Given the description of an element on the screen output the (x, y) to click on. 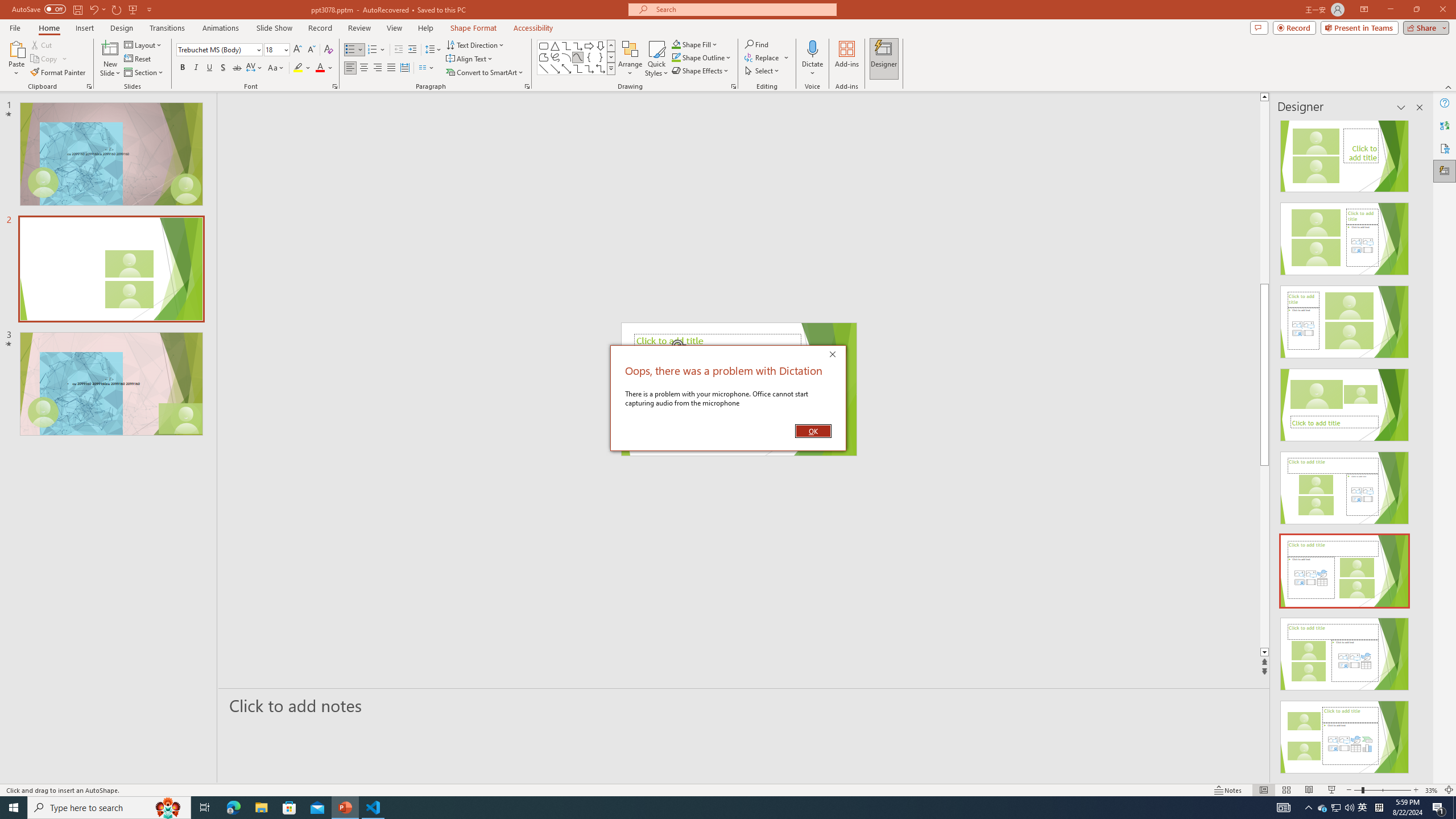
Shape Outline Green, Accent 1 (675, 56)
Line Arrow: Double (566, 68)
Recommended Design: Design Idea (1344, 152)
